Given the description of an element on the screen output the (x, y) to click on. 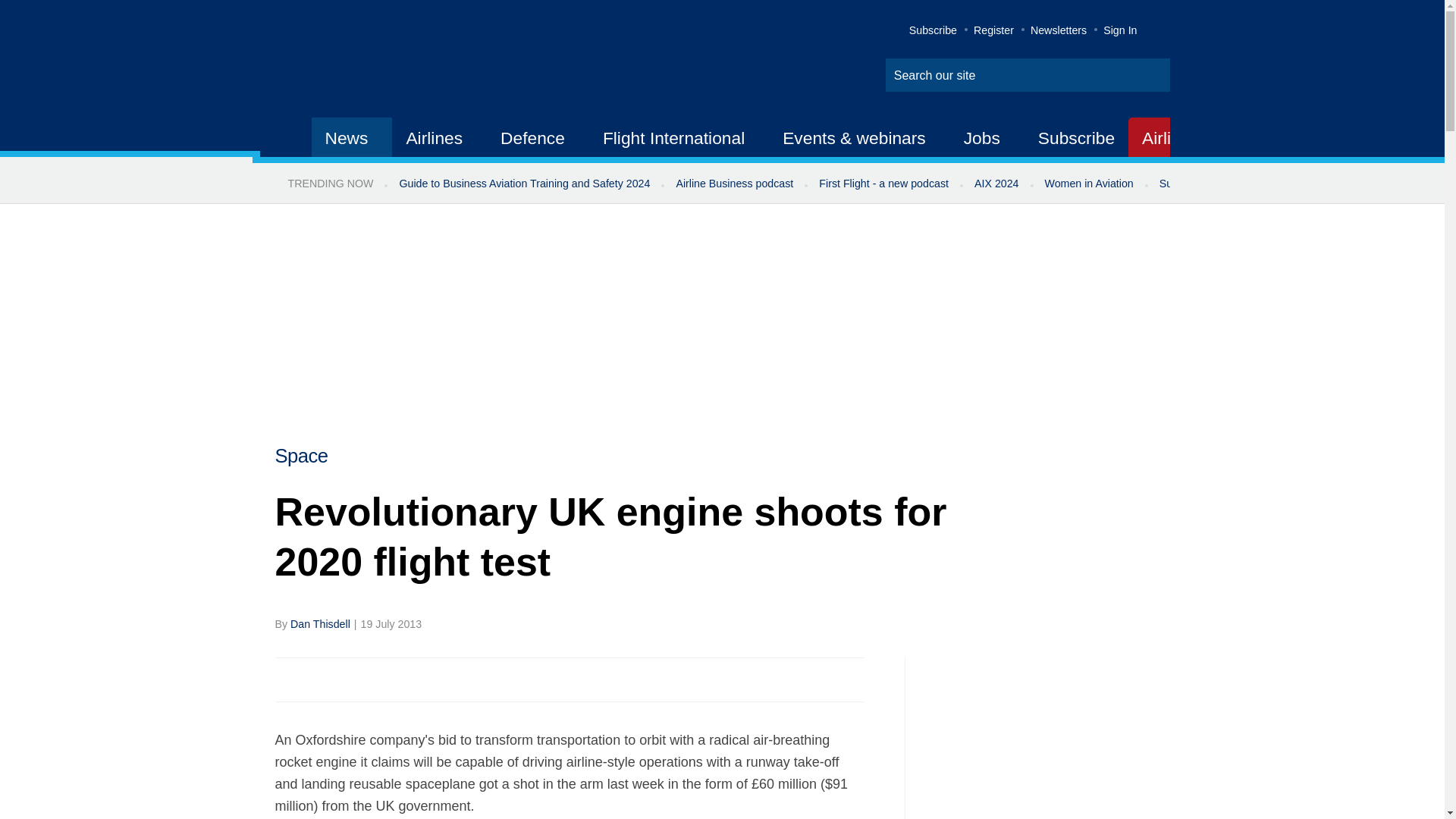
Share this on Twitter (320, 678)
Guide to Business Aviation Training and Safety 2024 (523, 183)
First Flight - a new podcast (883, 183)
Email this article (386, 678)
Site name (422, 60)
Sustainable Aviation newsletter (1234, 183)
AIX 2024 (996, 183)
Share this on Facebook (288, 678)
Airline Business podcast (734, 183)
Women in Aviation (1089, 183)
